Given the description of an element on the screen output the (x, y) to click on. 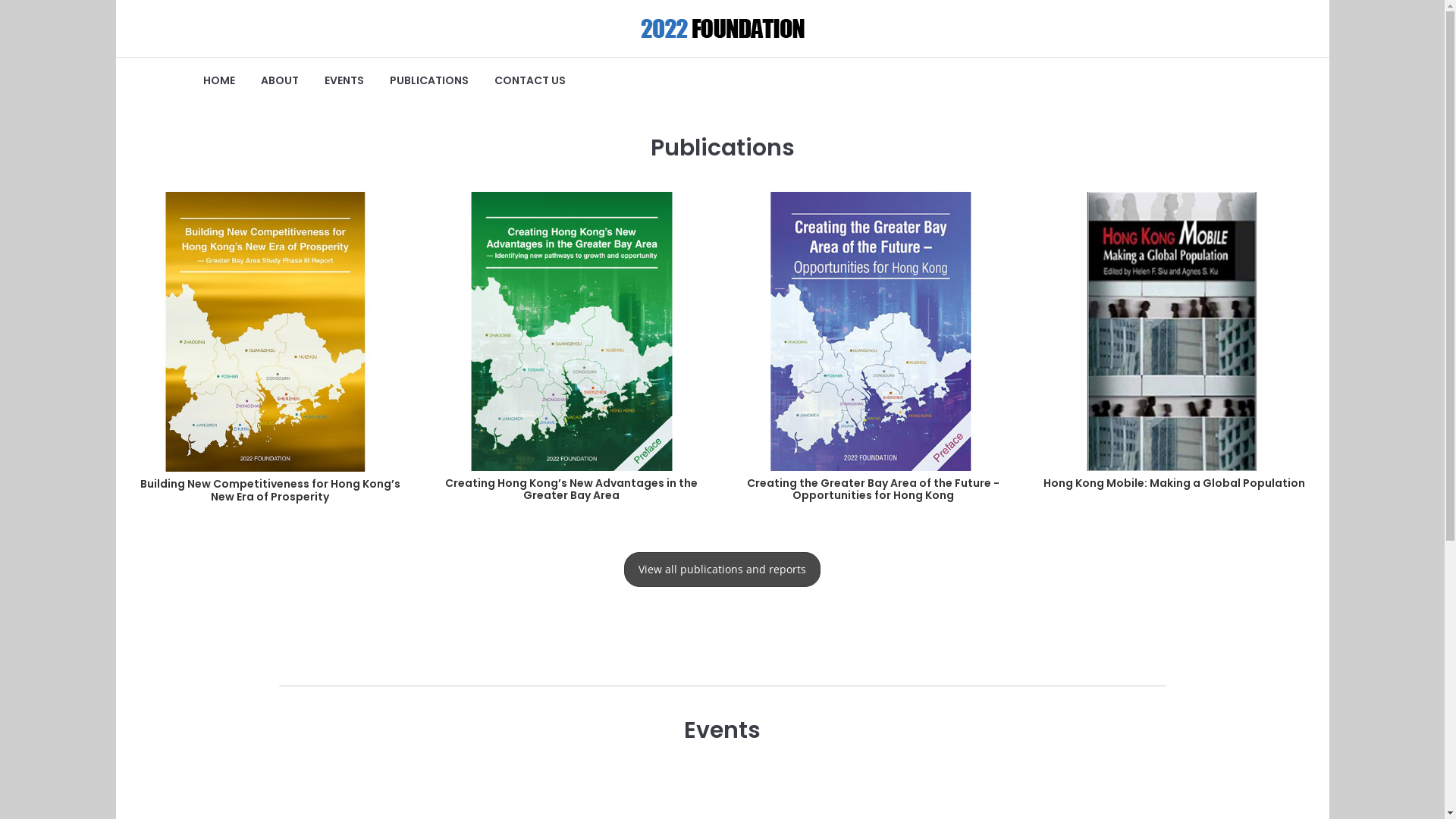
Go! Element type: text (1305, 105)
EVENTS Element type: text (343, 80)
View all publications and reports Element type: text (722, 569)
PUBLICATIONS Element type: text (428, 80)
ABOUT Element type: text (278, 80)
HOME Element type: text (218, 80)
CONTACT US Element type: text (529, 80)
